Given the description of an element on the screen output the (x, y) to click on. 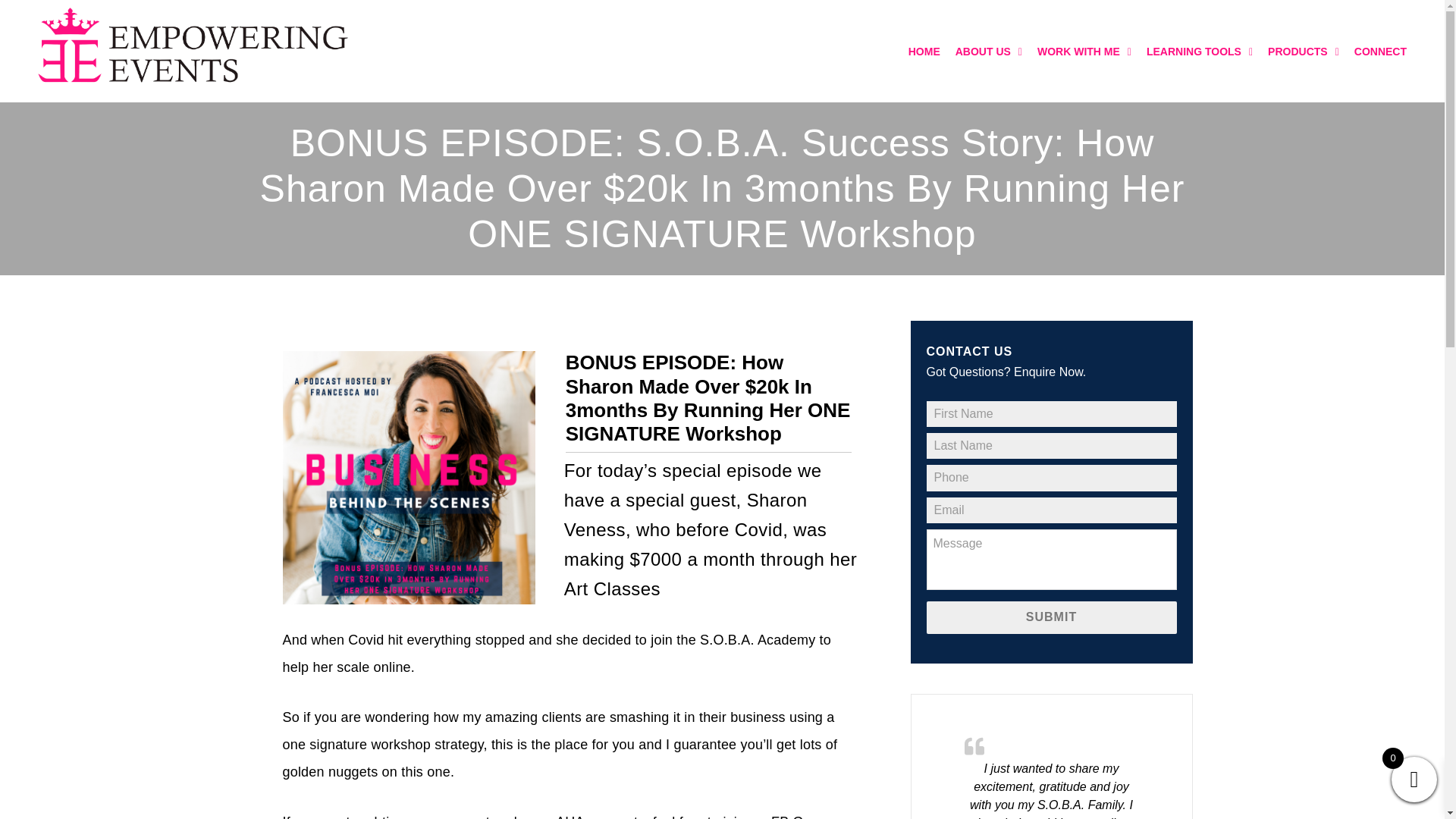
Submit (1051, 617)
PRODUCTS (1303, 51)
Sharon cover (408, 477)
LEARNING TOOLS (1199, 51)
ABOUT US (988, 51)
CONNECT (1379, 51)
HOME (924, 51)
logo copy 2 (191, 48)
WORK WITH ME (1083, 51)
